Given the description of an element on the screen output the (x, y) to click on. 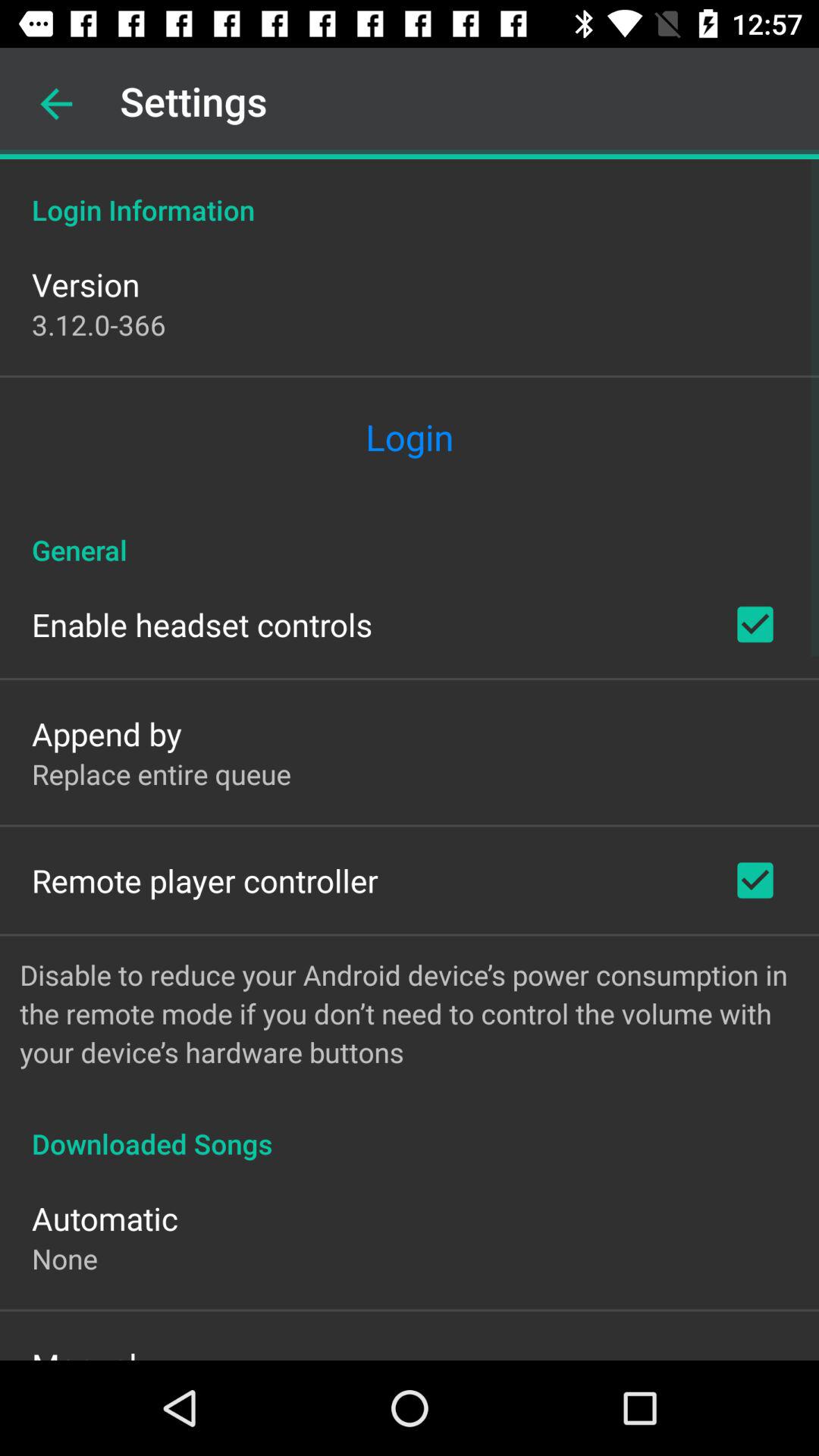
launch version (85, 283)
